Given the description of an element on the screen output the (x, y) to click on. 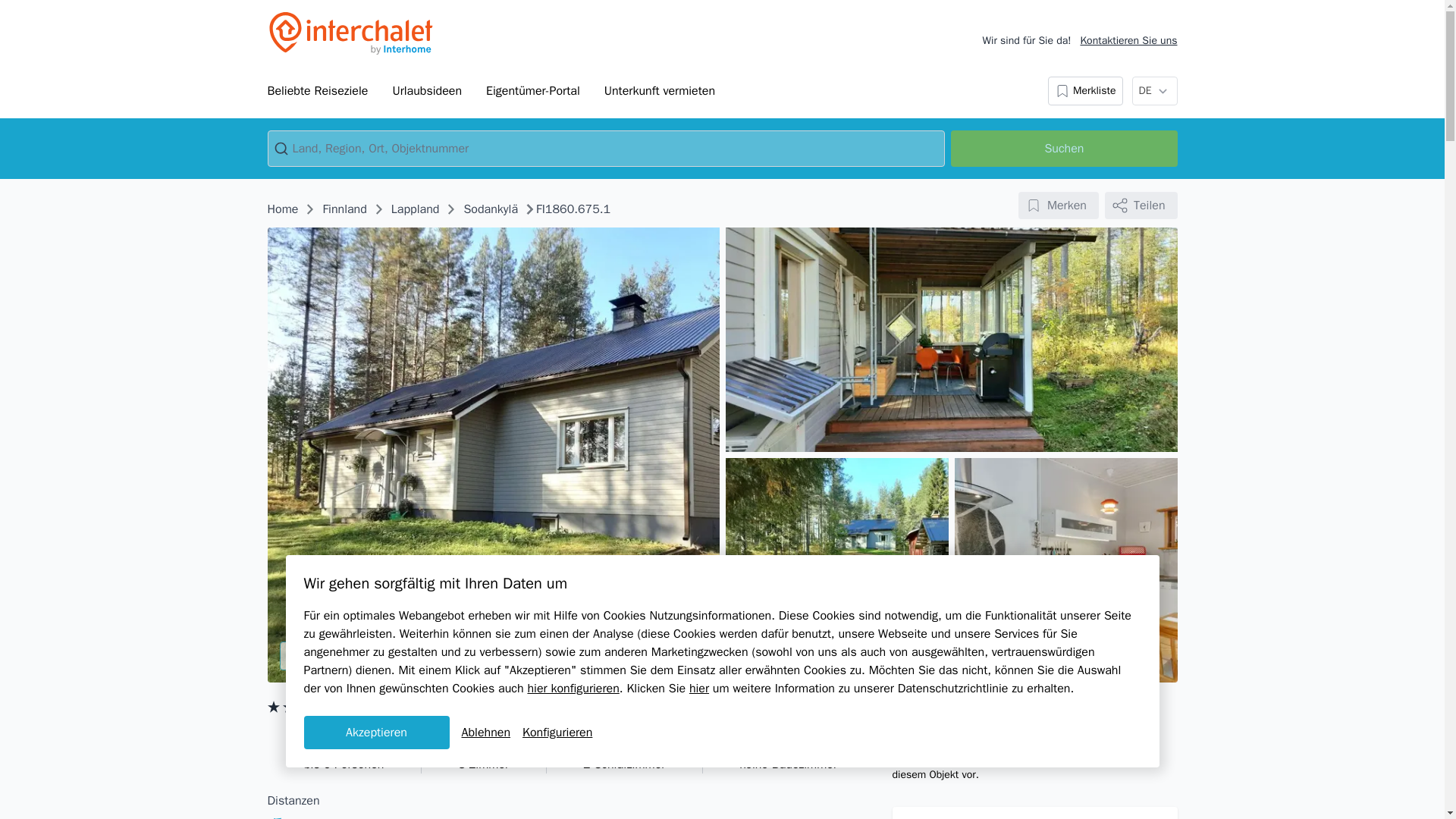
Kontaktieren Sie uns (1128, 40)
FI1860.675.1 (572, 208)
Home (282, 209)
Merken (1058, 205)
Merkliste (1085, 90)
Suchen (1063, 148)
Lappland (415, 208)
Innenbereich (1064, 569)
Finnland (343, 208)
Lappland (415, 208)
Alle Bilder (352, 655)
Beliebte Reiseziele (317, 91)
Finnland (343, 208)
FI1860.675.1 (572, 208)
